Given the description of an element on the screen output the (x, y) to click on. 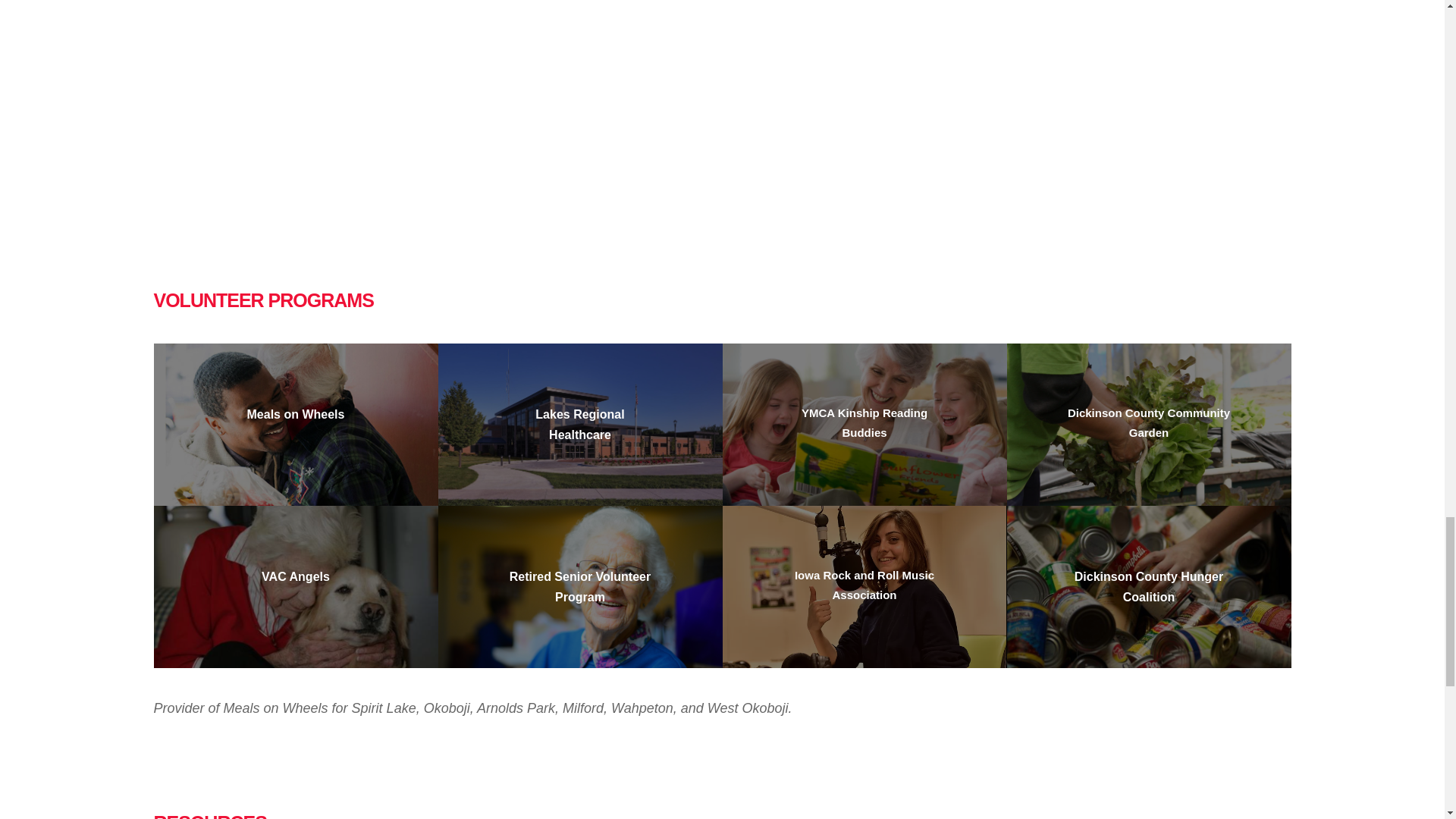
YMCA Kinship Reading Buddies (864, 422)
Dickinson County Hunger Coalition (1149, 586)
Meals on Wheels (295, 414)
Retired Senior Volunteer Program (580, 586)
VAC Angels (295, 576)
Lakes Regional Healthcare (580, 424)
Dickinson County Community Garden (1149, 422)
Iowa Rock and Roll Music Association (864, 585)
